Given the description of an element on the screen output the (x, y) to click on. 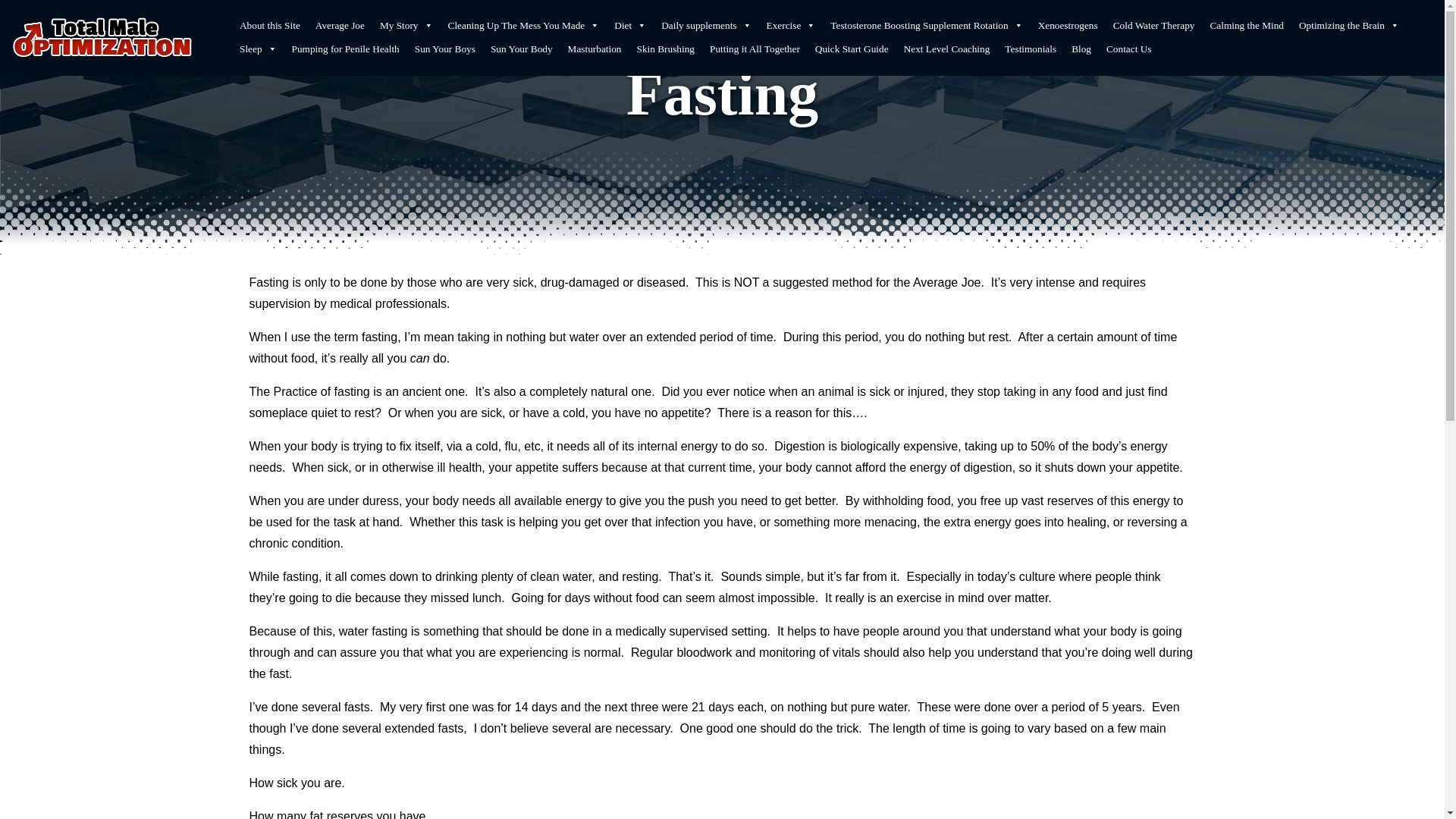
Exercise (791, 25)
Diet (630, 25)
About this Site (269, 25)
My Story (406, 25)
Daily supplements (705, 25)
Cleaning Up The Mess You Made (524, 25)
Testosterone Boosting Supplement Rotation (925, 25)
Average Joe (339, 25)
